Given the description of an element on the screen output the (x, y) to click on. 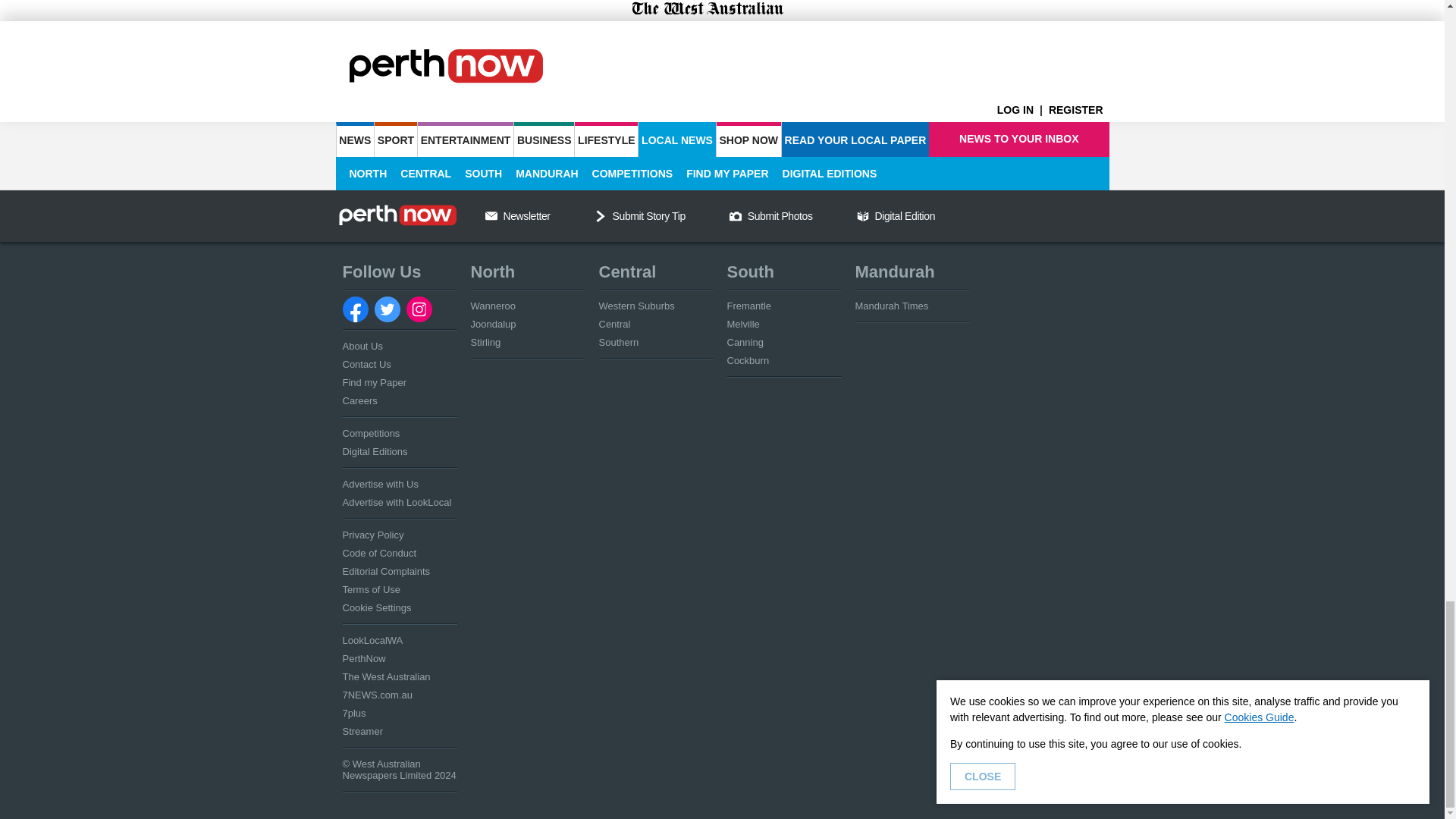
Chevron Down Icon (600, 215)
Get Digital Edition (863, 215)
Camera Icon (735, 215)
Email Us (490, 215)
